Given the description of an element on the screen output the (x, y) to click on. 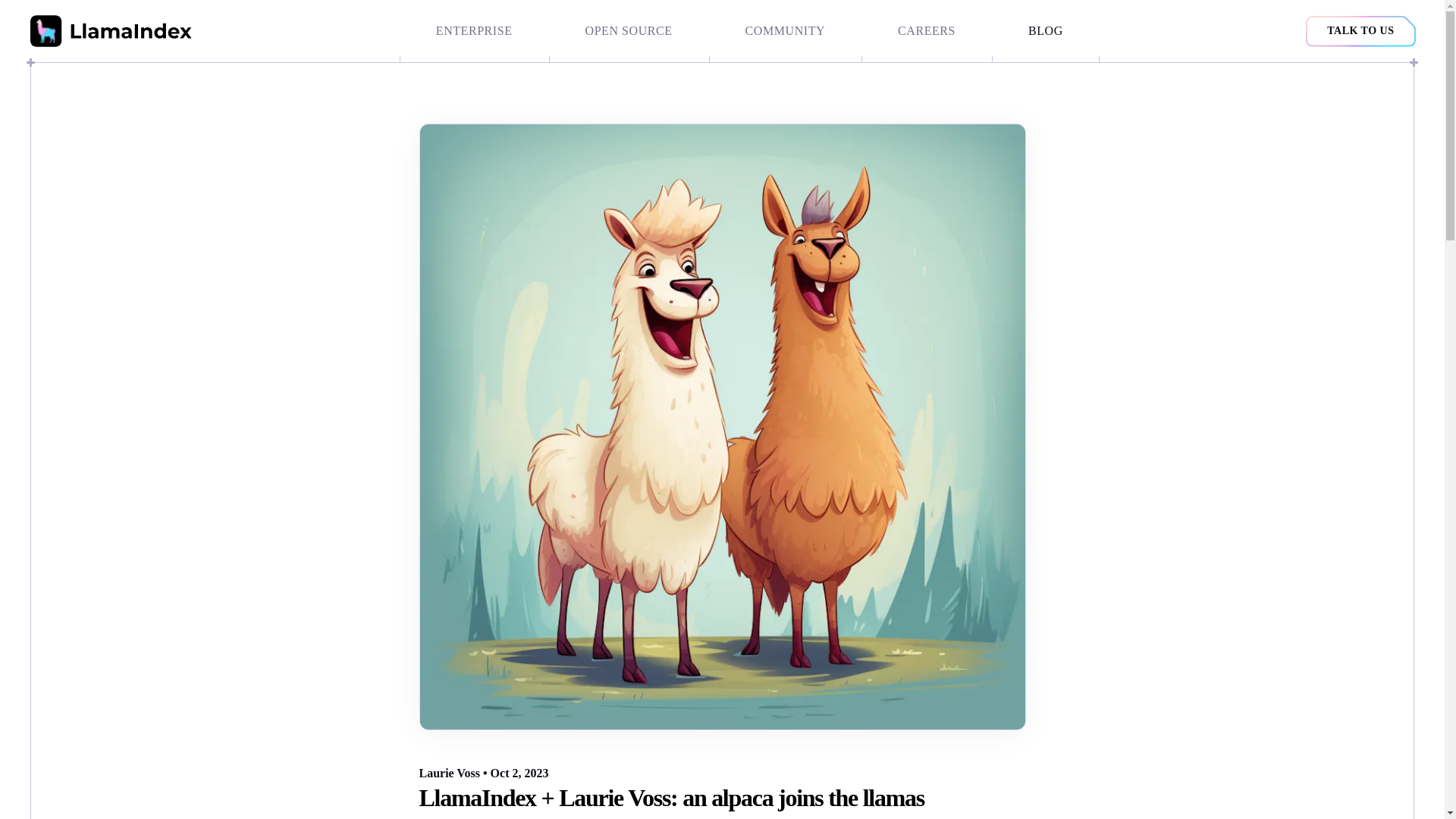
CAREERS (926, 31)
TALK TO US (1360, 30)
Laurie Voss (449, 772)
OPEN SOURCE (628, 31)
COMMUNITY (785, 31)
ENTERPRISE (473, 31)
BLOG (1045, 31)
